Given the description of an element on the screen output the (x, y) to click on. 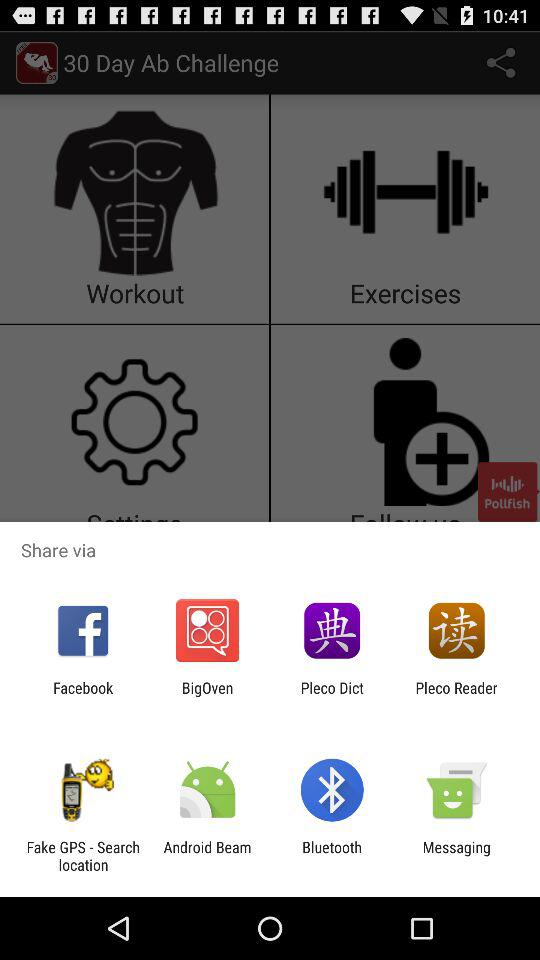
tap the app to the left of bigoven (83, 696)
